Given the description of an element on the screen output the (x, y) to click on. 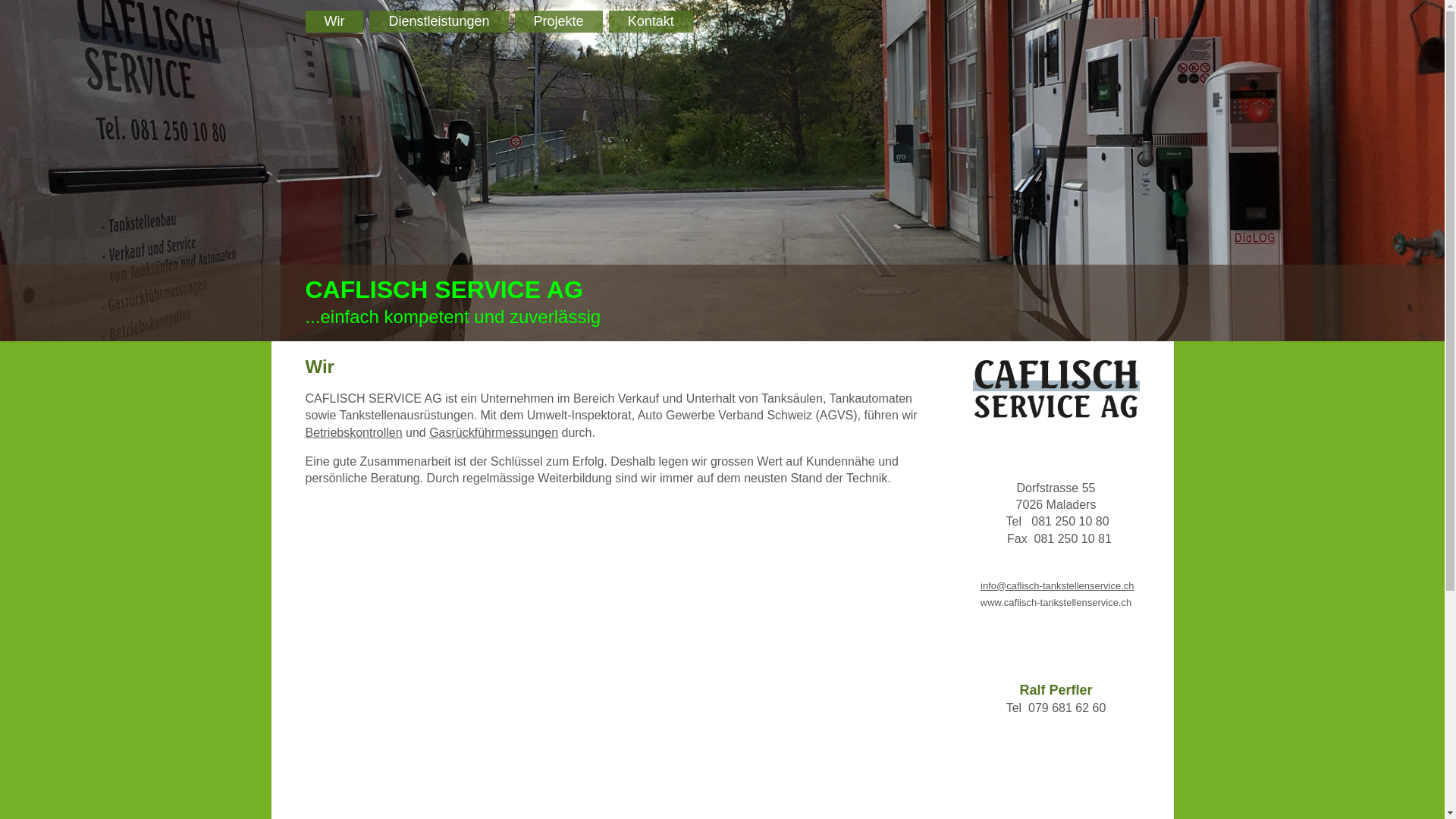
Projekte Element type: text (558, 21)
Betriebskontrollen Element type: text (352, 432)
info@caflisch-tankstellenservice.ch Element type: text (1057, 585)
Kontakt Element type: text (650, 21)
Dienstleistungen Element type: text (438, 21)
Wir Element type: text (333, 21)
